Given the description of an element on the screen output the (x, y) to click on. 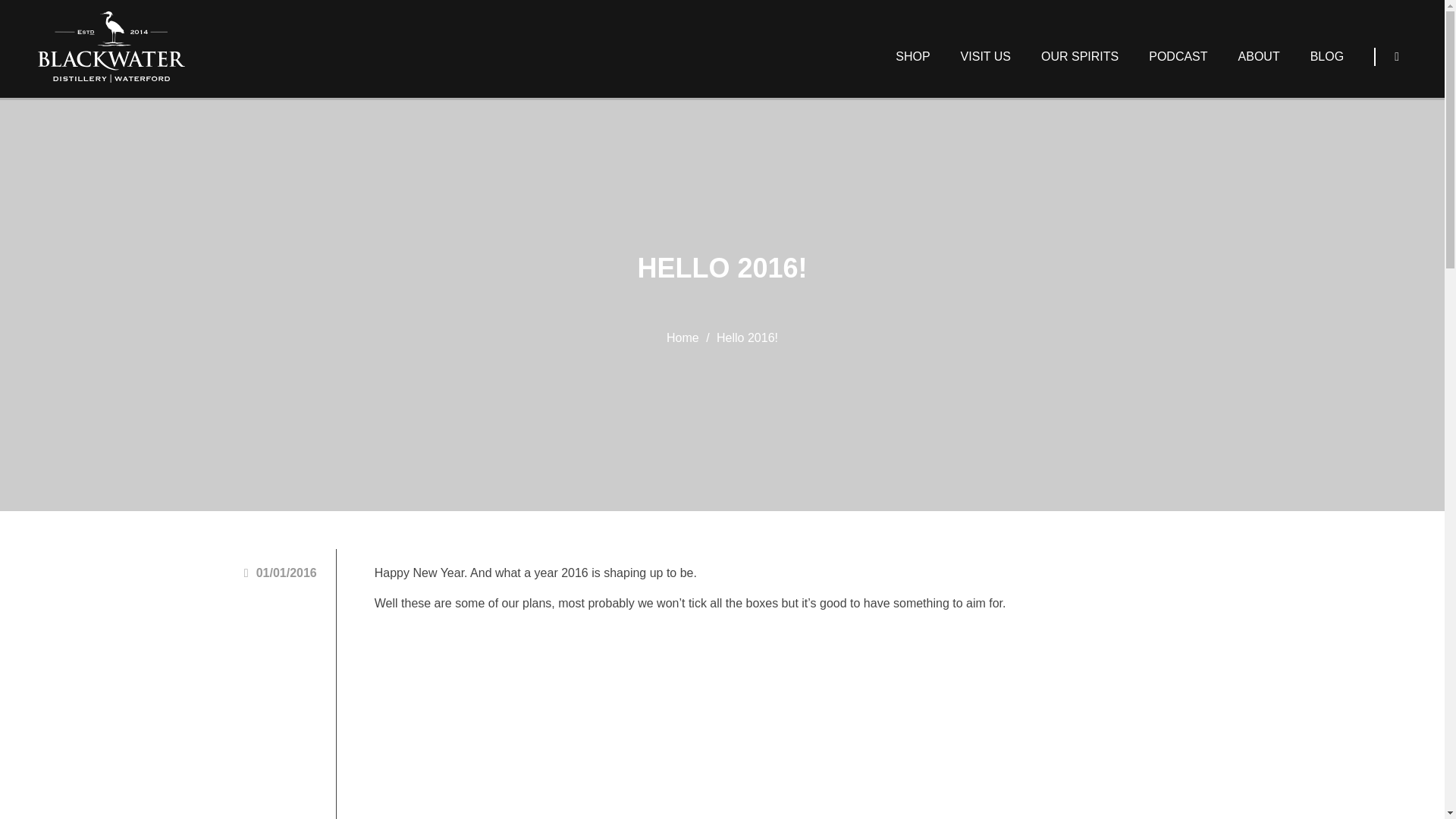
PODCAST (1177, 55)
Blackwater Distillery (110, 46)
OUR SPIRITS (1079, 55)
Blackwater Distillery (110, 46)
Home (682, 337)
About (1258, 55)
SHOP (912, 55)
ABOUT (1258, 55)
Shop (912, 55)
Visit Us (985, 55)
BLOG (1327, 55)
VISIT US (985, 55)
Our Spirits (1079, 55)
Podcast (1177, 55)
